Given the description of an element on the screen output the (x, y) to click on. 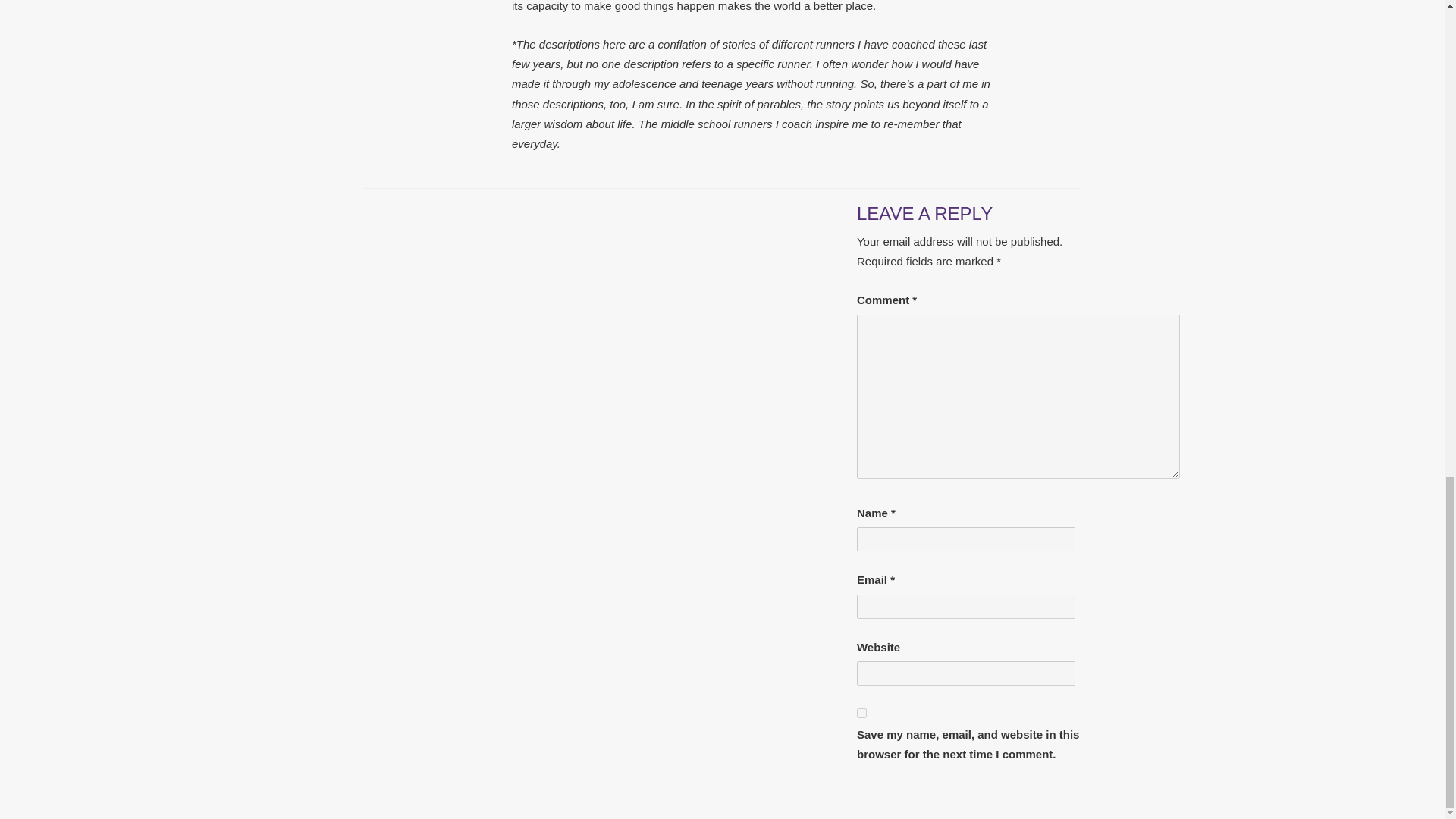
yes (861, 713)
